Given the description of an element on the screen output the (x, y) to click on. 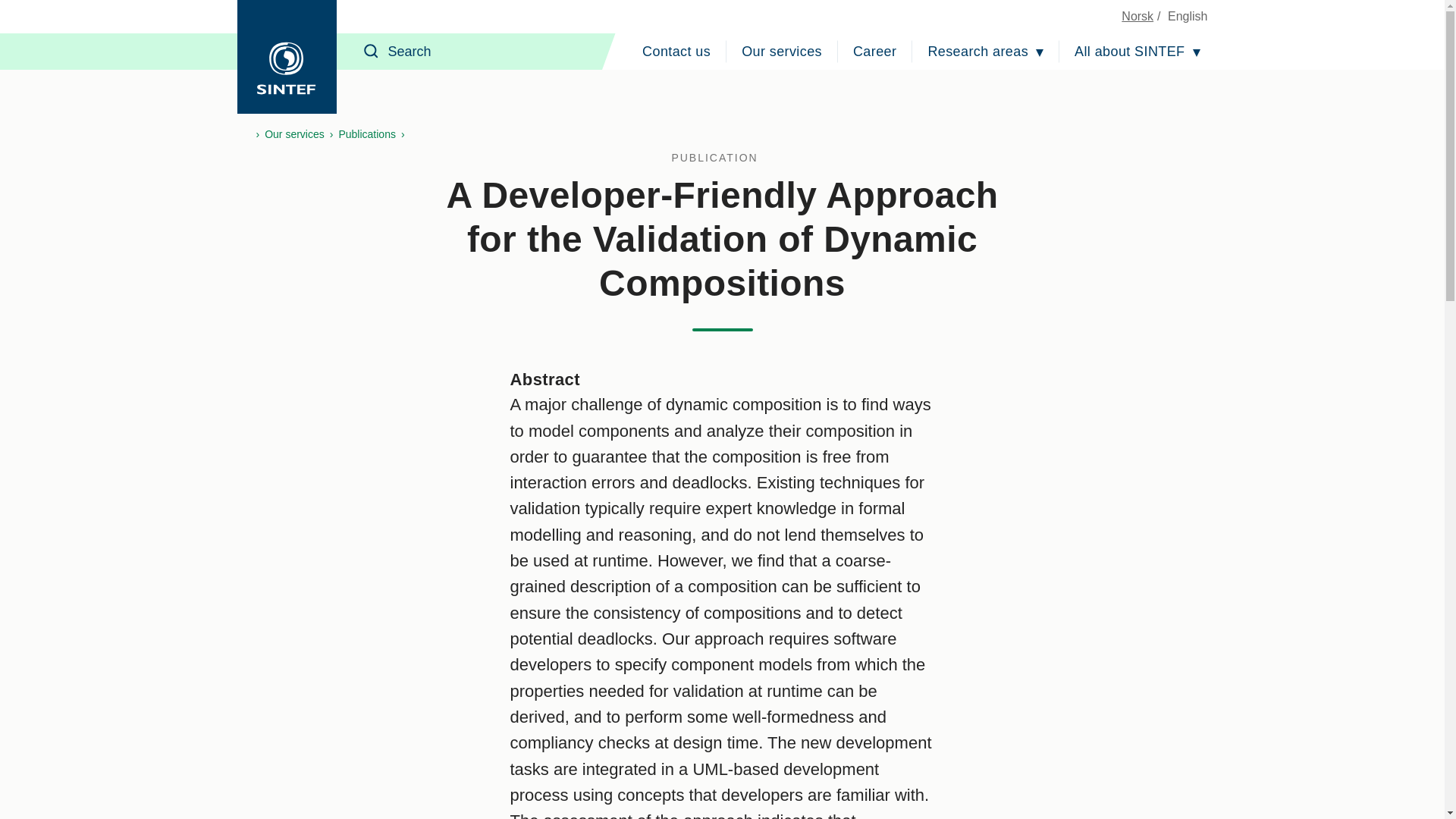
Norsk (1137, 16)
All publications (722, 157)
All about SINTEF (1137, 51)
Contact us (675, 51)
Research areas (985, 51)
Our services (781, 51)
Career (874, 51)
